Given the description of an element on the screen output the (x, y) to click on. 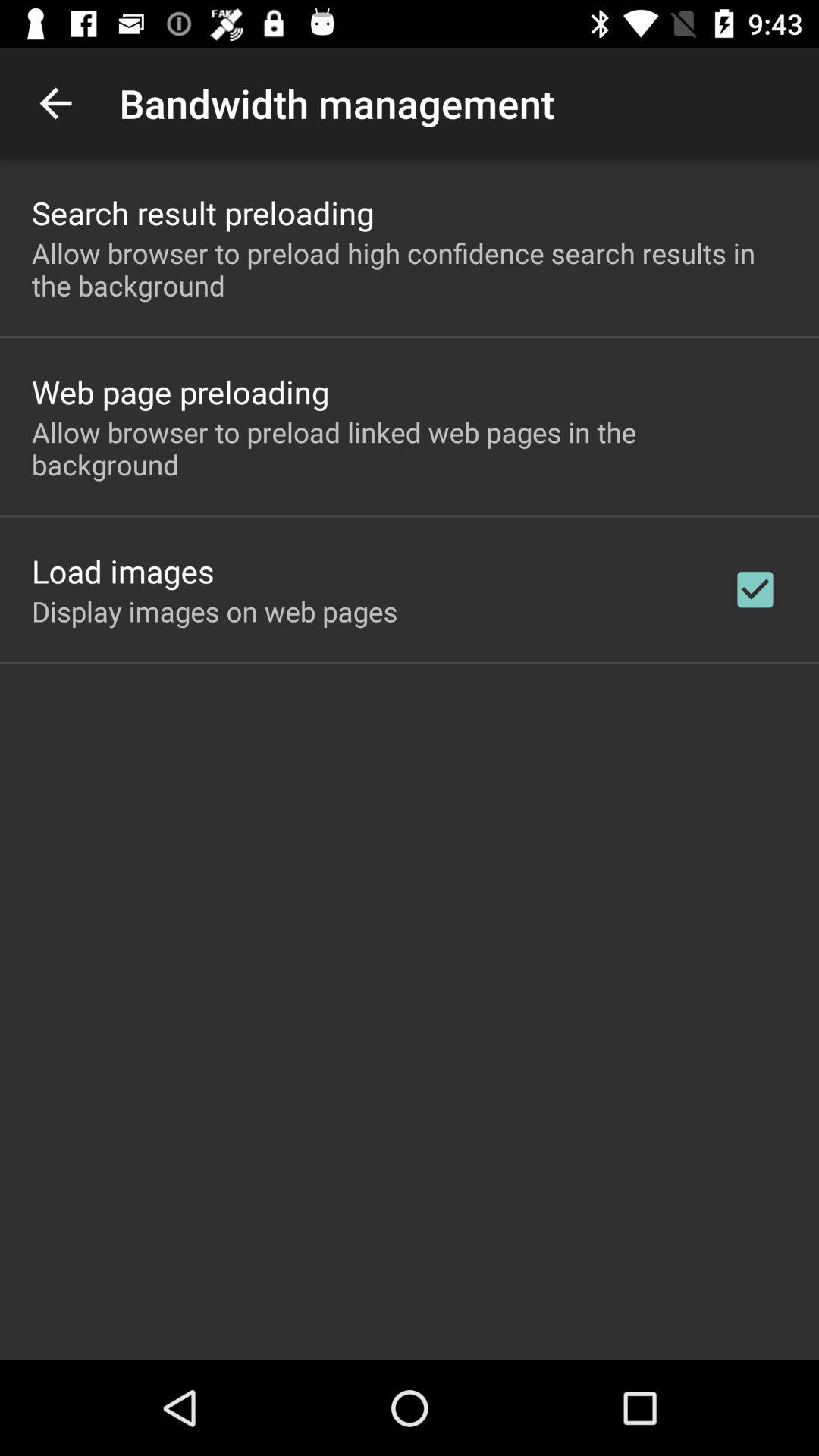
turn off icon below the allow browser to app (180, 391)
